Given the description of an element on the screen output the (x, y) to click on. 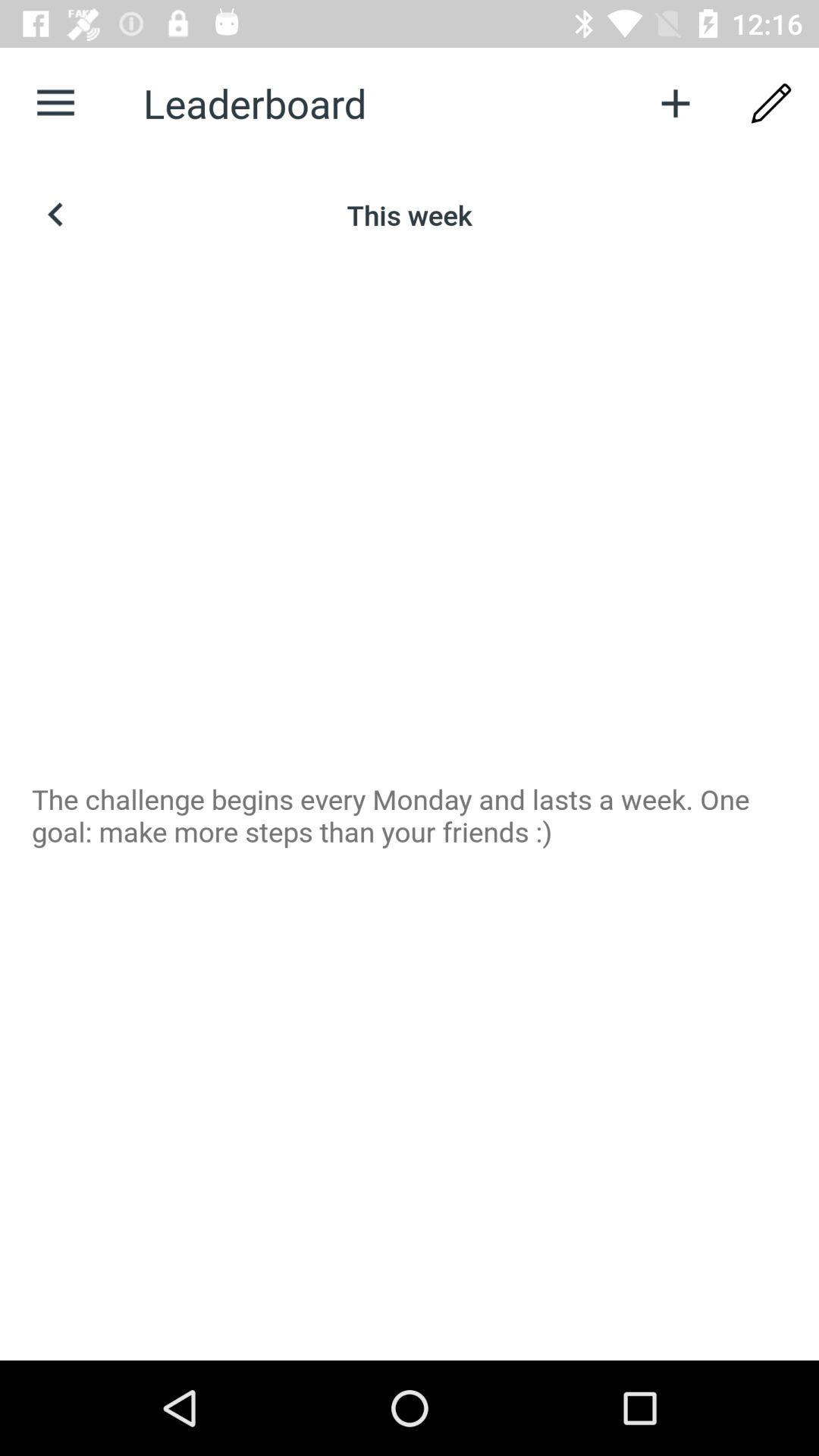
go to previous week (55, 214)
